Given the description of an element on the screen output the (x, y) to click on. 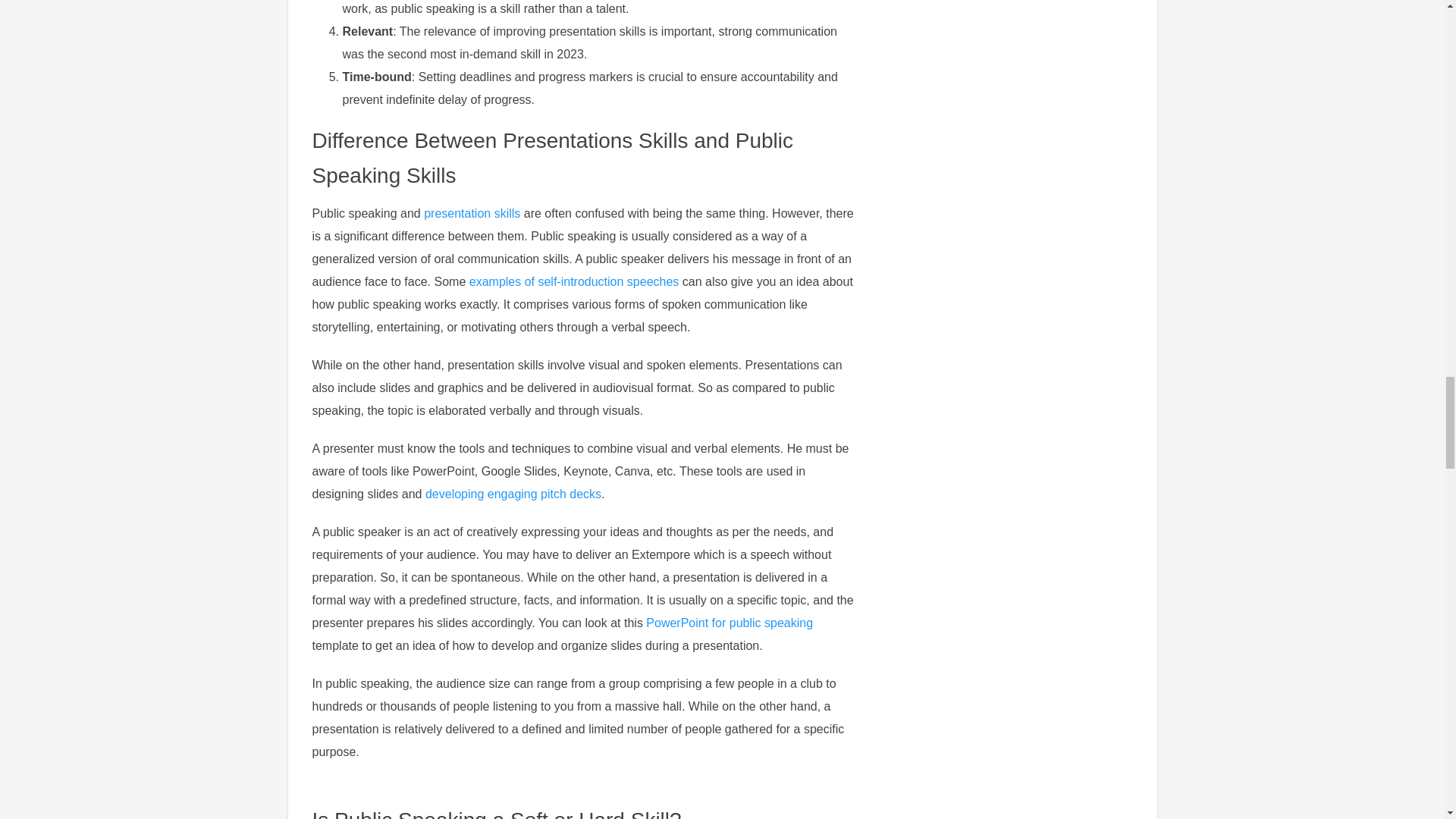
presentation skills (471, 213)
PowerPoint for public speaking (729, 622)
examples of self-introduction speeches (573, 281)
developing engaging pitch decks (513, 493)
